Given the description of an element on the screen output the (x, y) to click on. 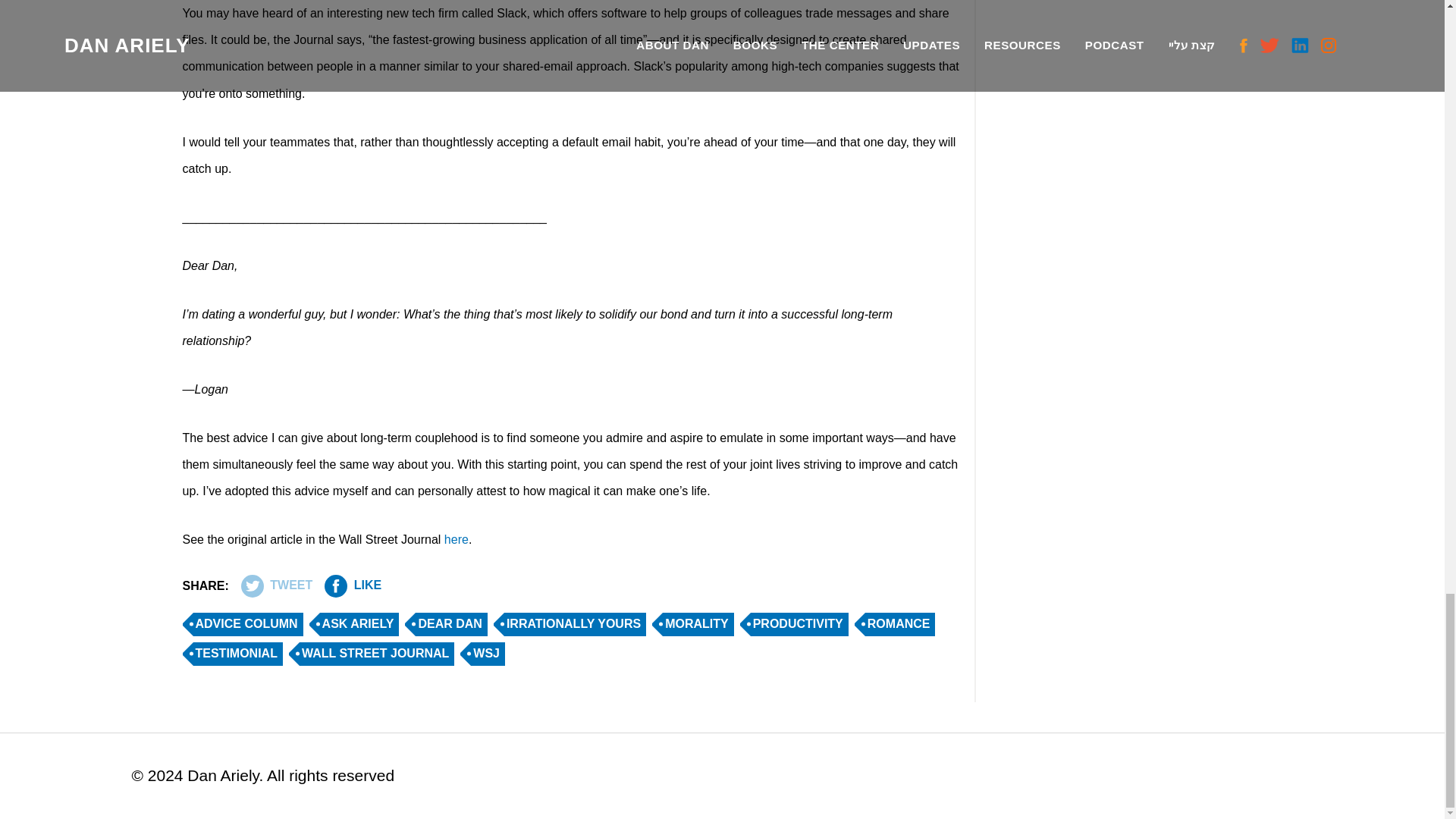
TWEET (277, 585)
LIKE (352, 585)
here (456, 539)
ADVICE COLUMN (246, 623)
